Given the description of an element on the screen output the (x, y) to click on. 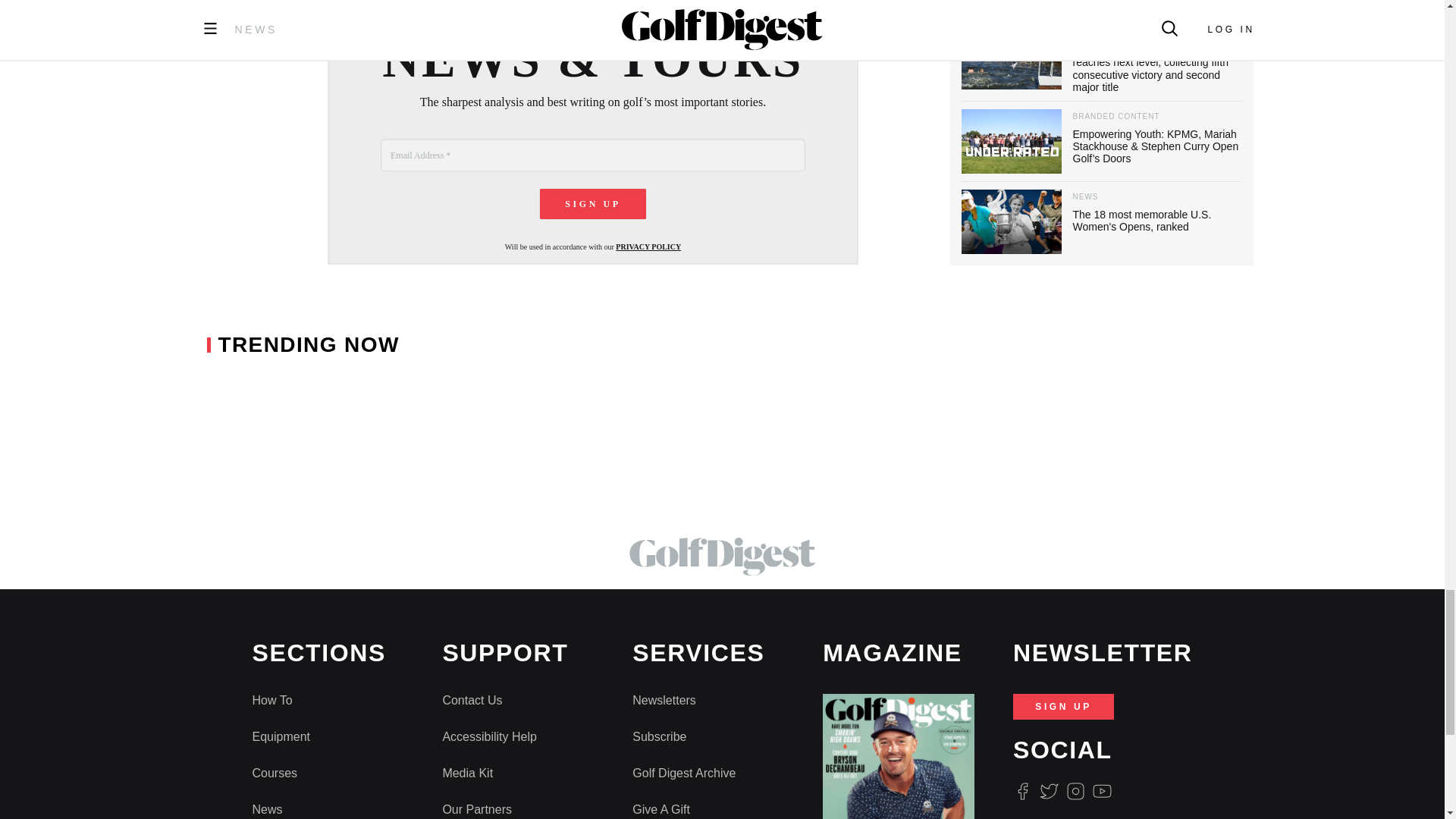
Youtube Icon (1102, 790)
Facebook Logo (1022, 790)
Instagram Logo (1074, 790)
Twitter Logo (1048, 790)
Sign up (593, 204)
